Given the description of an element on the screen output the (x, y) to click on. 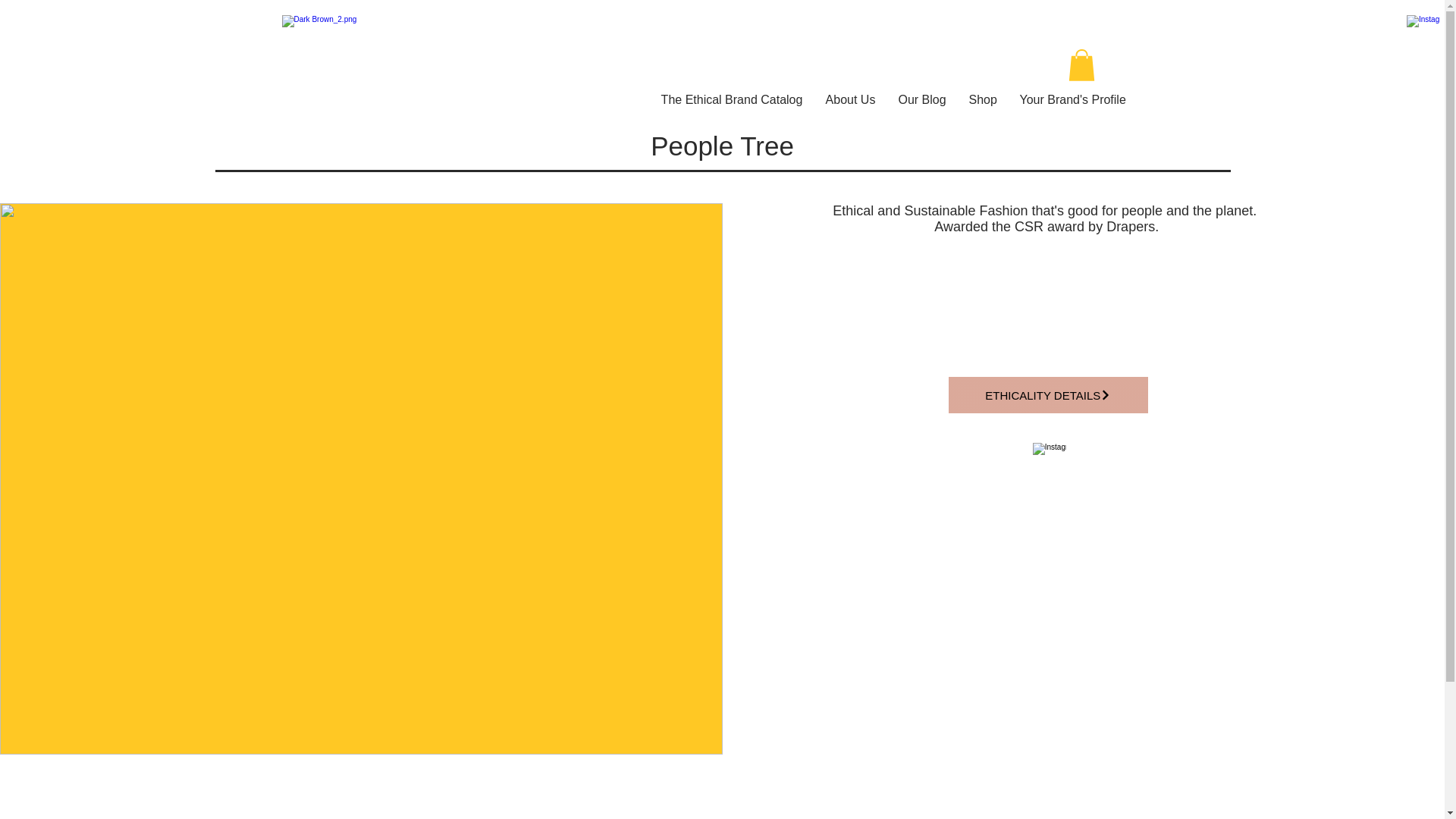
Your Brand's Profile (1073, 99)
Our Blog (922, 99)
The Ethical Brand Catalog (731, 99)
ETHICALITY DETAILS (1048, 394)
Shop (981, 99)
About Us (849, 99)
